Given the description of an element on the screen output the (x, y) to click on. 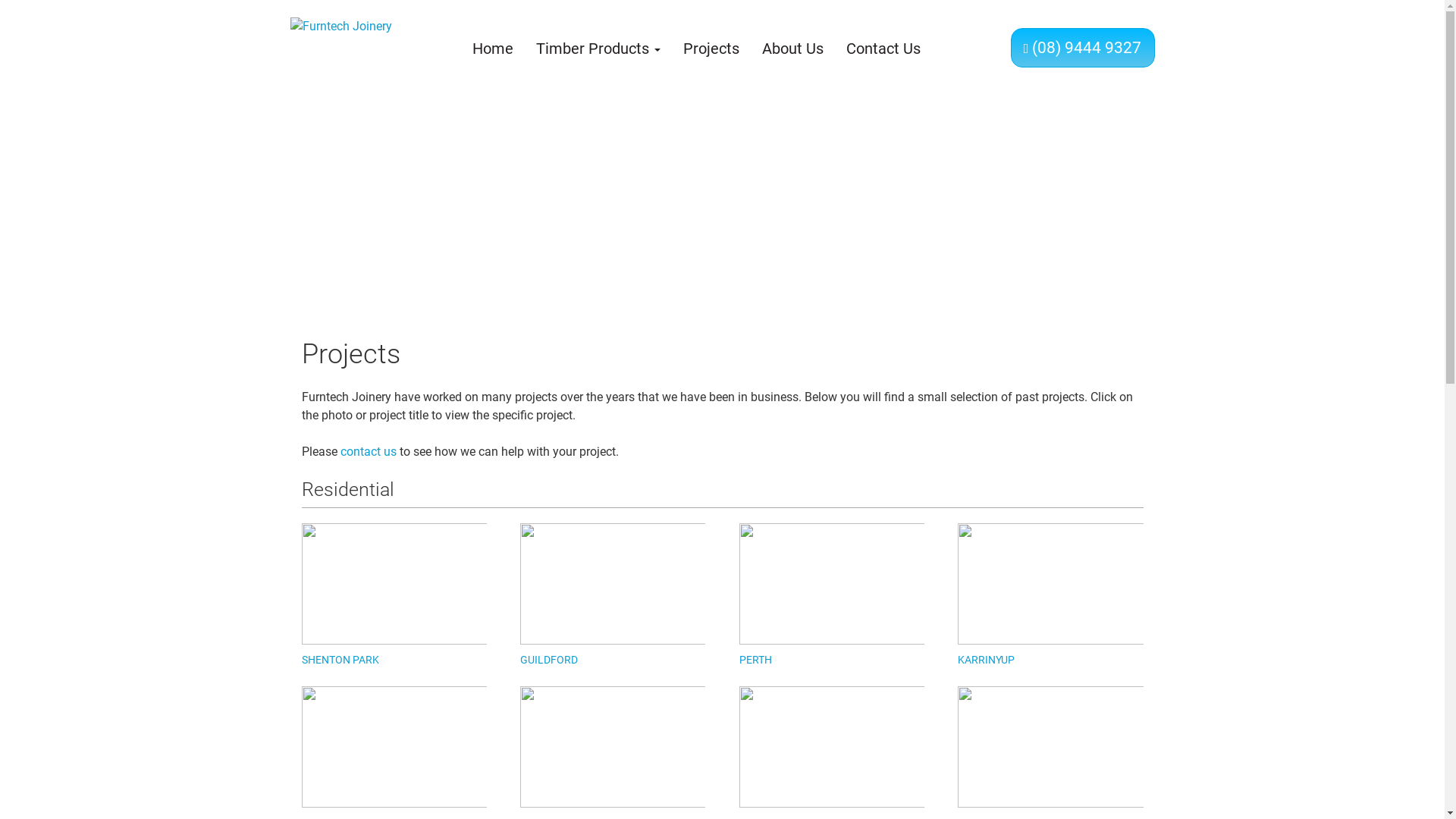
Timber Products Element type: text (597, 48)
About Us Element type: text (792, 48)
SHENTON PARK Element type: text (340, 659)
Furntech Joinery Element type: text (334, 44)
GUILDFORD Element type: text (548, 659)
 Home Element type: text (490, 48)
Projects Element type: text (710, 48)
contact us Element type: text (367, 451)
(08) 9444 9327 Element type: text (1082, 47)
PERTH Element type: text (755, 659)
KARRINYUP Element type: text (985, 659)
Contact Us Element type: text (882, 48)
